Given the description of an element on the screen output the (x, y) to click on. 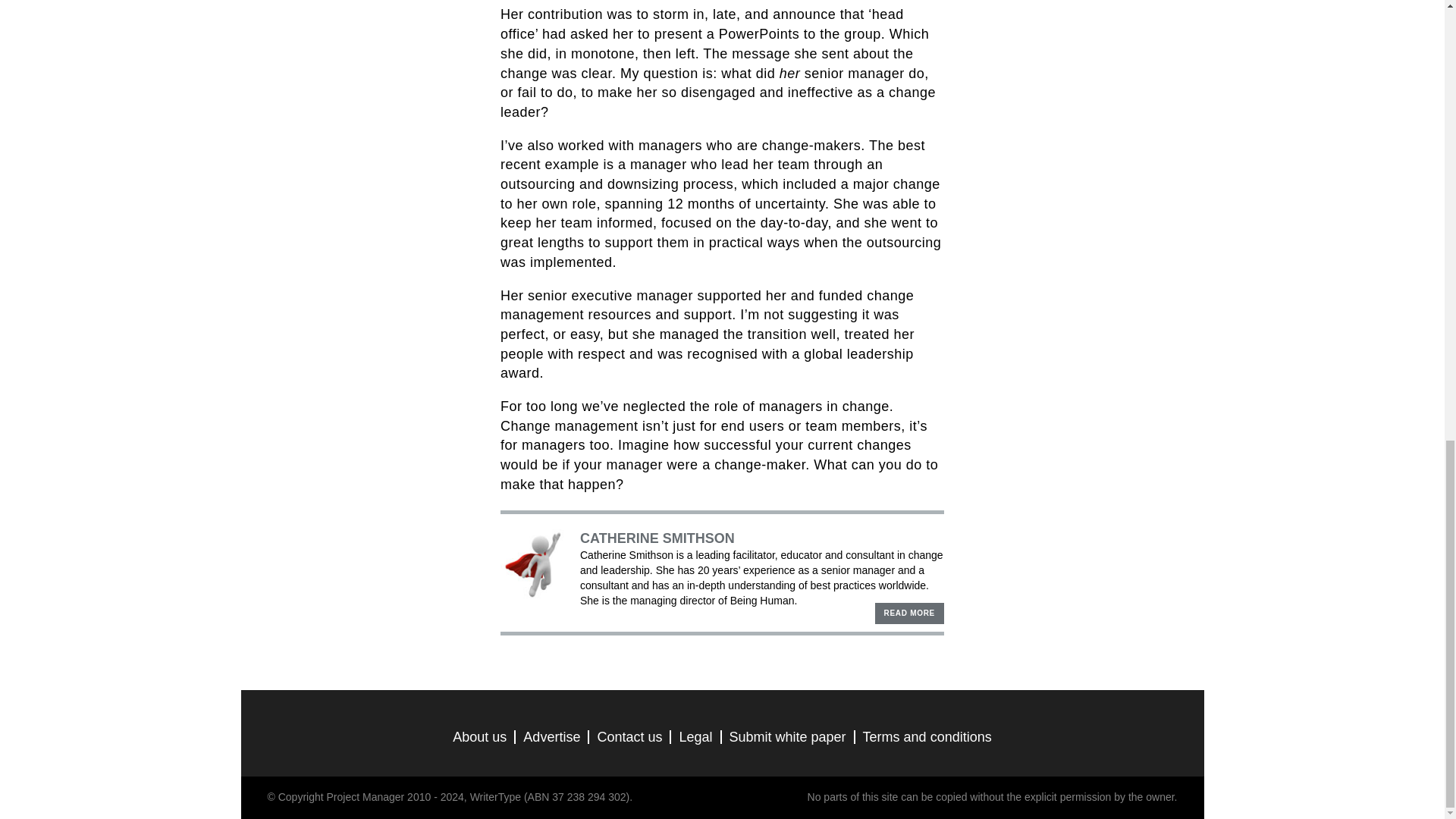
Legal (694, 736)
Contact us (629, 736)
Terms and conditions (927, 736)
Submit white paper (787, 736)
READ MORE (909, 613)
Advertise (550, 736)
About us (479, 736)
